Given the description of an element on the screen output the (x, y) to click on. 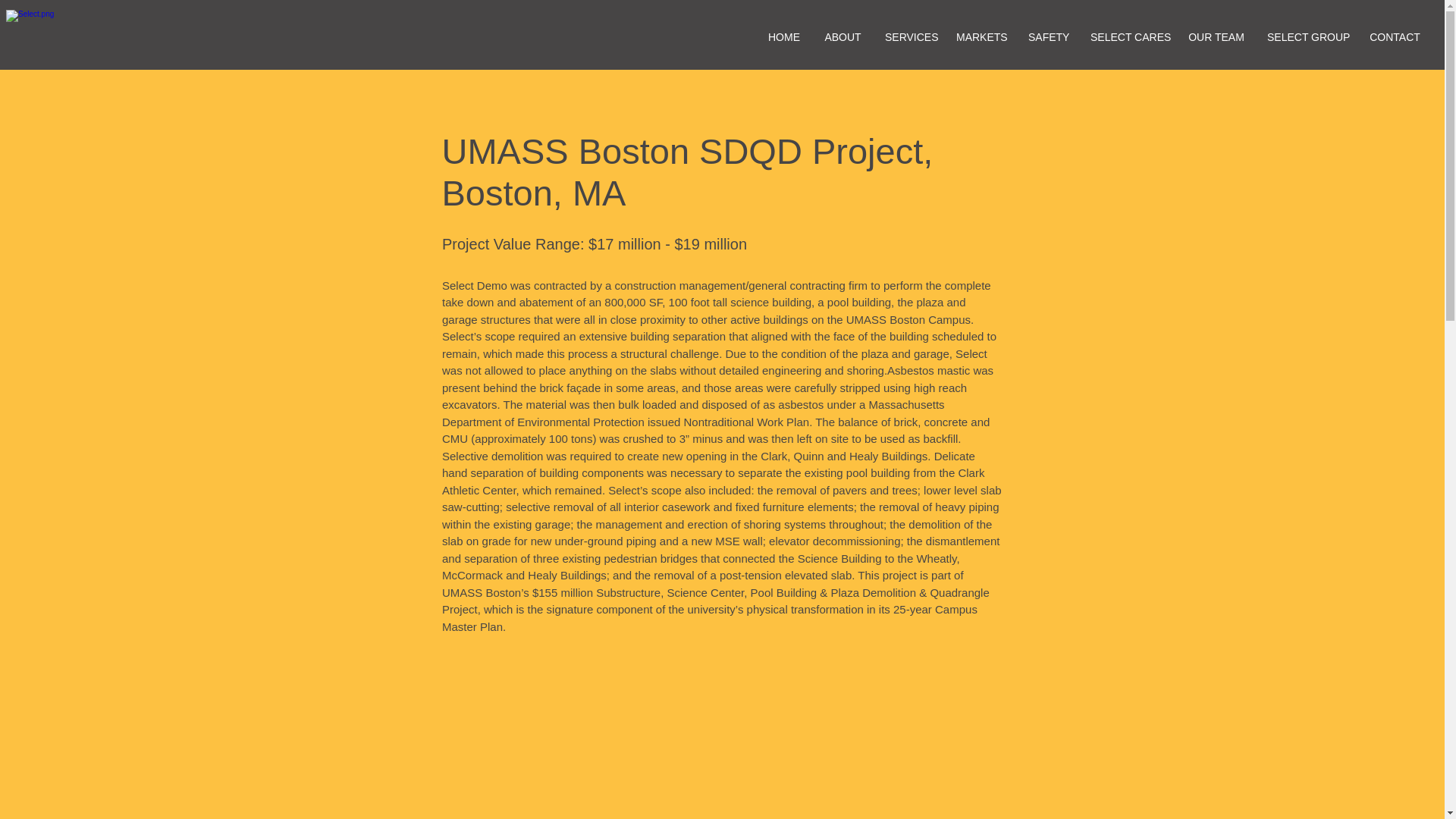
SELECT CARES (1127, 37)
SAFETY (1047, 37)
OUR TEAM (1215, 37)
SELECT GROUP (1305, 37)
SERVICES (908, 37)
HOME (783, 37)
ABOUT (842, 37)
CONTACT (1394, 37)
